Given the description of an element on the screen output the (x, y) to click on. 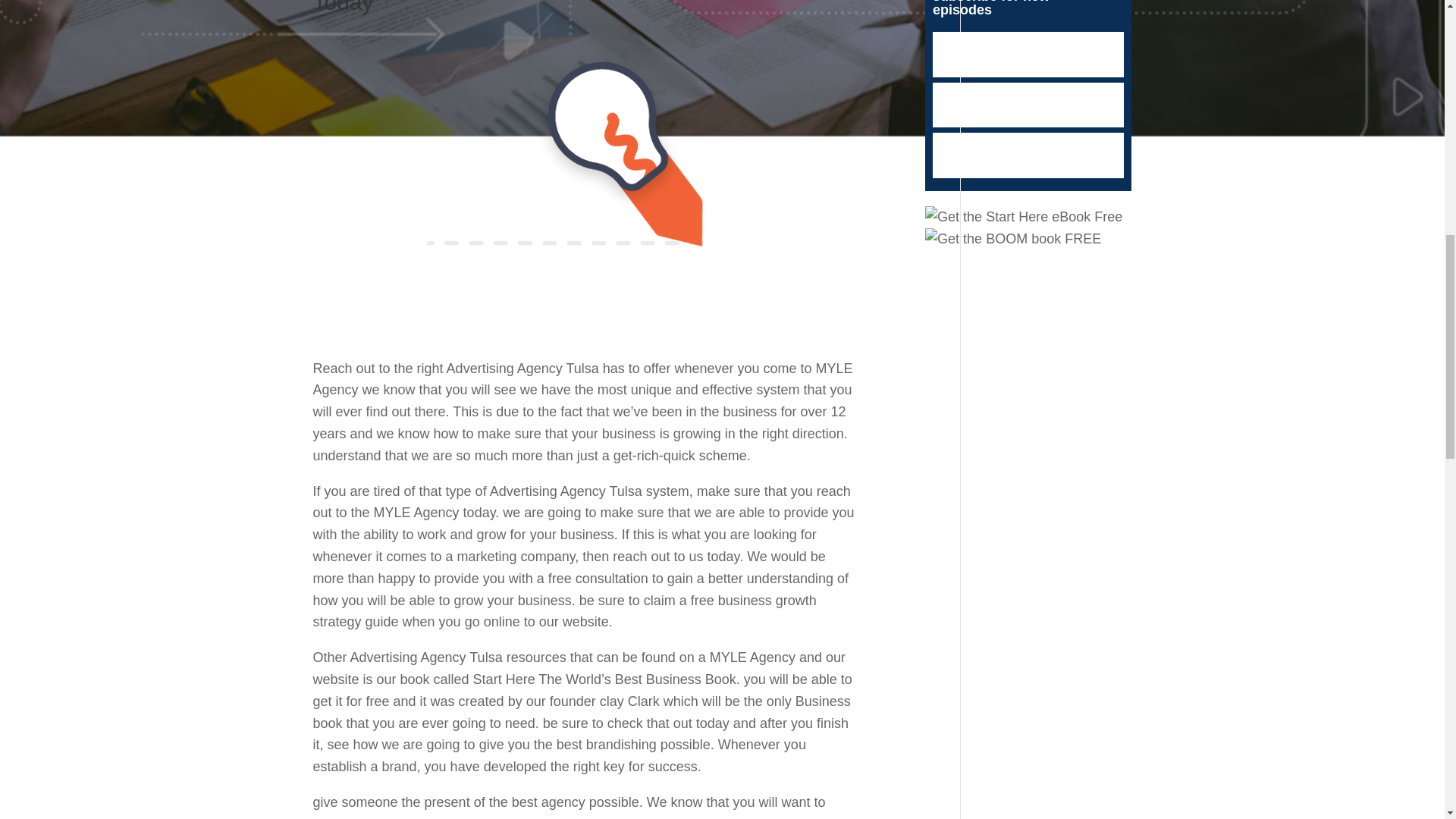
Downloadables (1028, 155)
Stitcher (1028, 104)
iTunes (1028, 53)
